Given the description of an element on the screen output the (x, y) to click on. 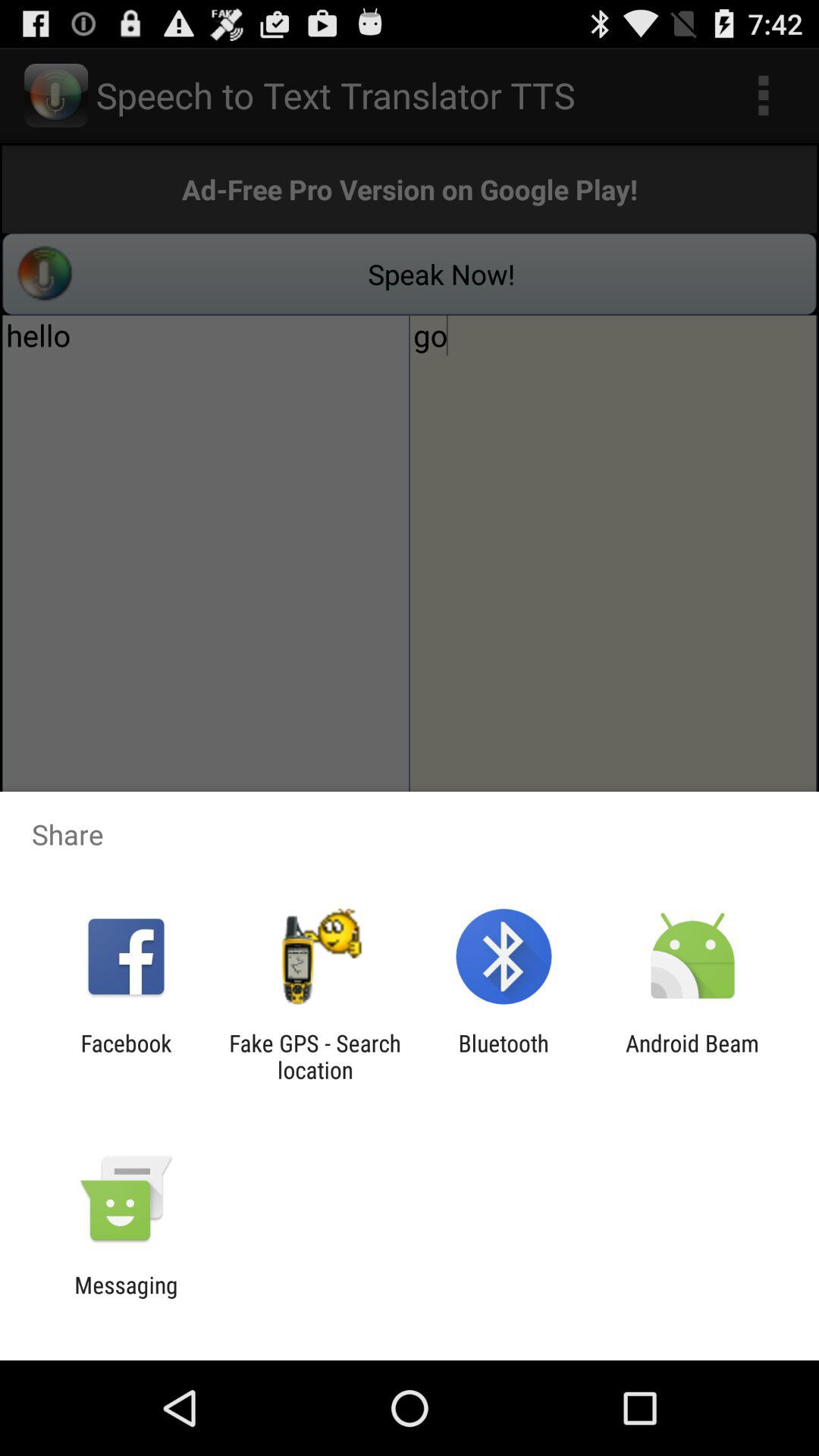
select messaging item (126, 1298)
